Given the description of an element on the screen output the (x, y) to click on. 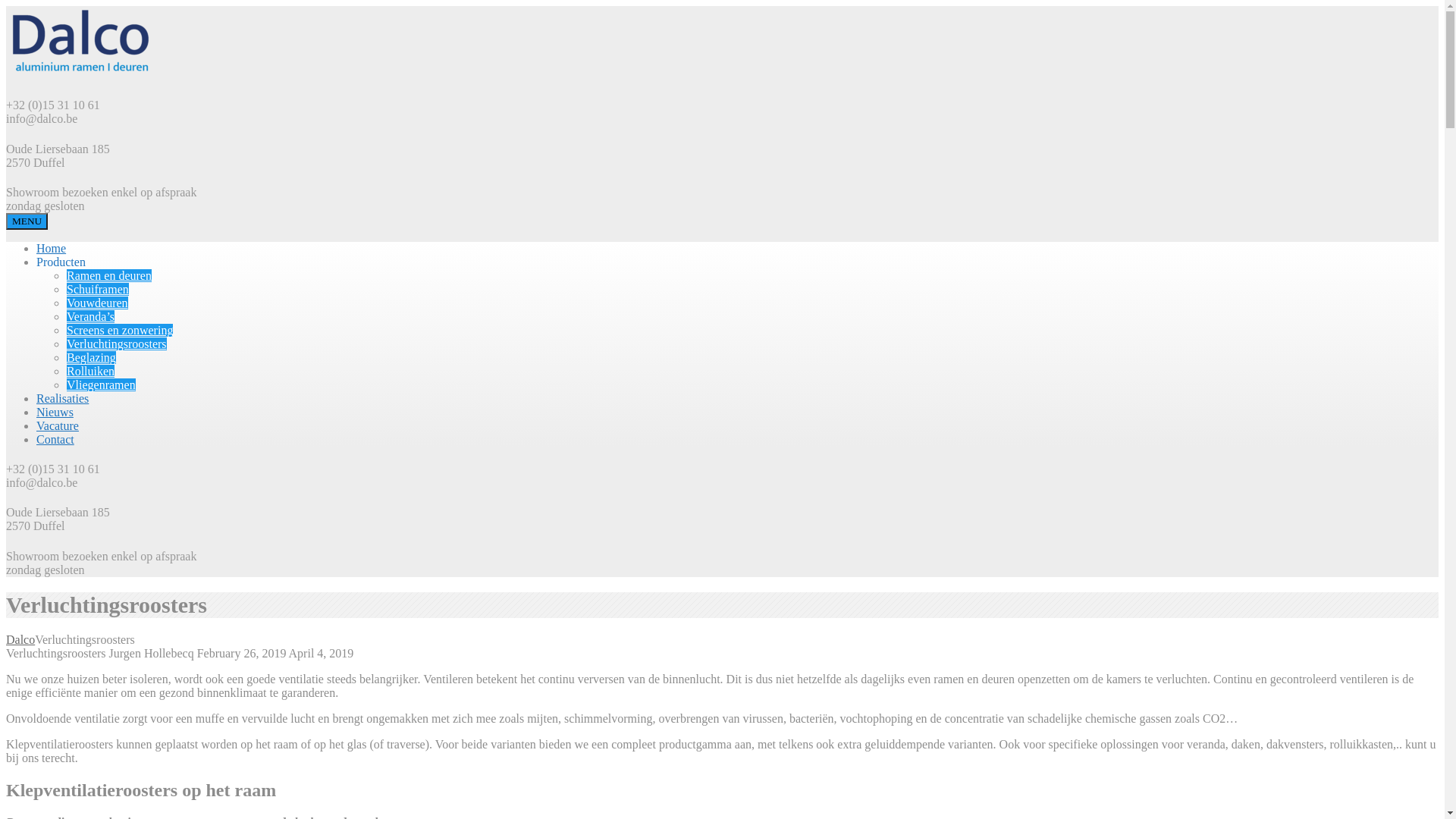
Verluchtingsroosters Element type: text (116, 343)
Producten Element type: text (60, 261)
Screens en zonwering Element type: text (119, 329)
Schuiframen Element type: text (97, 288)
Vacature Element type: text (57, 425)
MENU Element type: text (26, 221)
Ramen en deuren Element type: text (108, 275)
Nieuws Element type: text (54, 411)
Vliegenramen Element type: text (100, 384)
Contact Element type: text (55, 439)
Vouwdeuren Element type: text (97, 302)
Dalco Element type: text (20, 639)
Rolluiken Element type: text (90, 370)
Realisaties Element type: text (62, 398)
Home Element type: text (50, 247)
Beglazing Element type: text (91, 357)
